Given the description of an element on the screen output the (x, y) to click on. 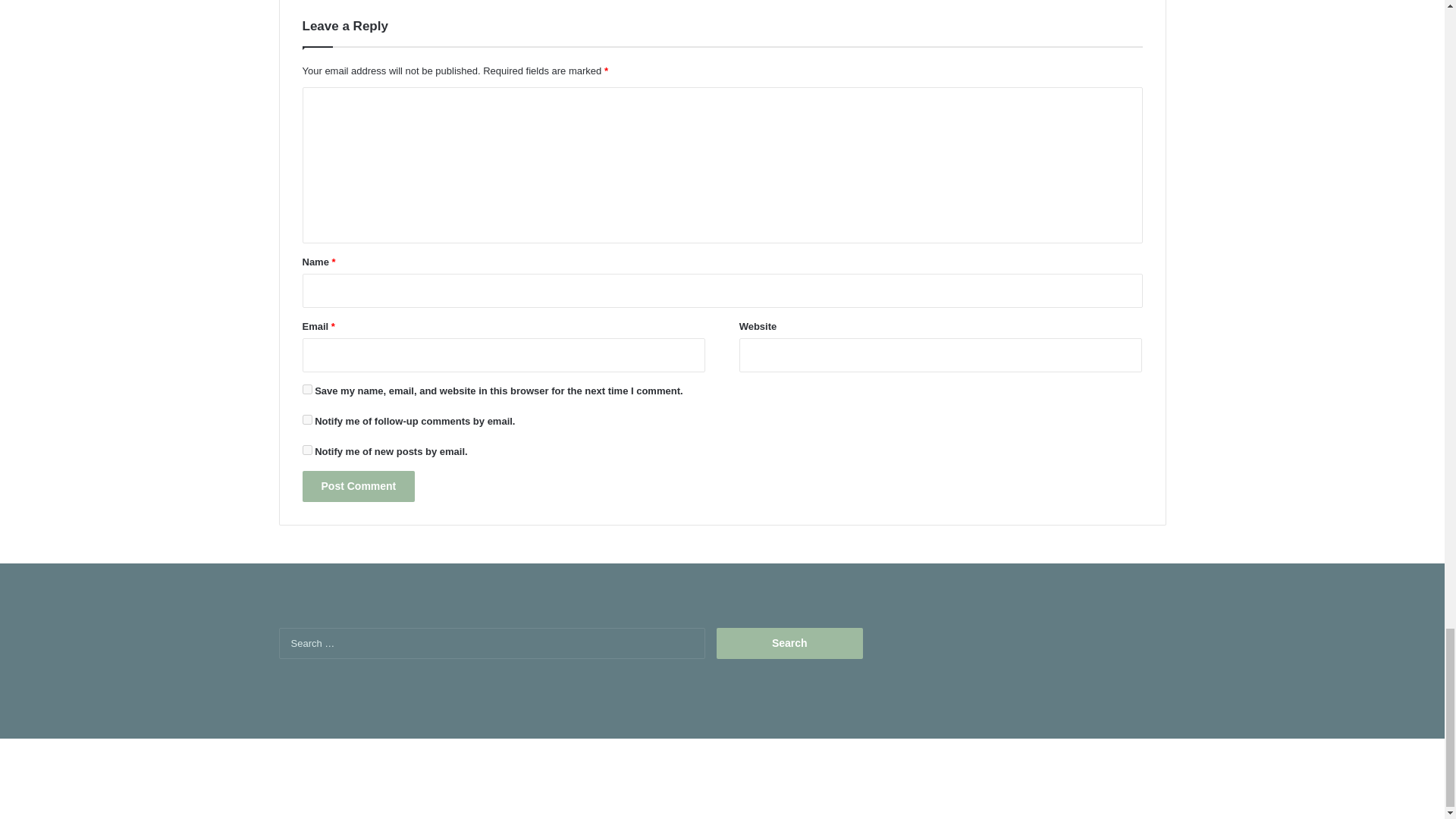
yes (306, 388)
Search (789, 643)
subscribe (306, 419)
subscribe (306, 450)
Search (789, 643)
Post Comment (357, 486)
